Given the description of an element on the screen output the (x, y) to click on. 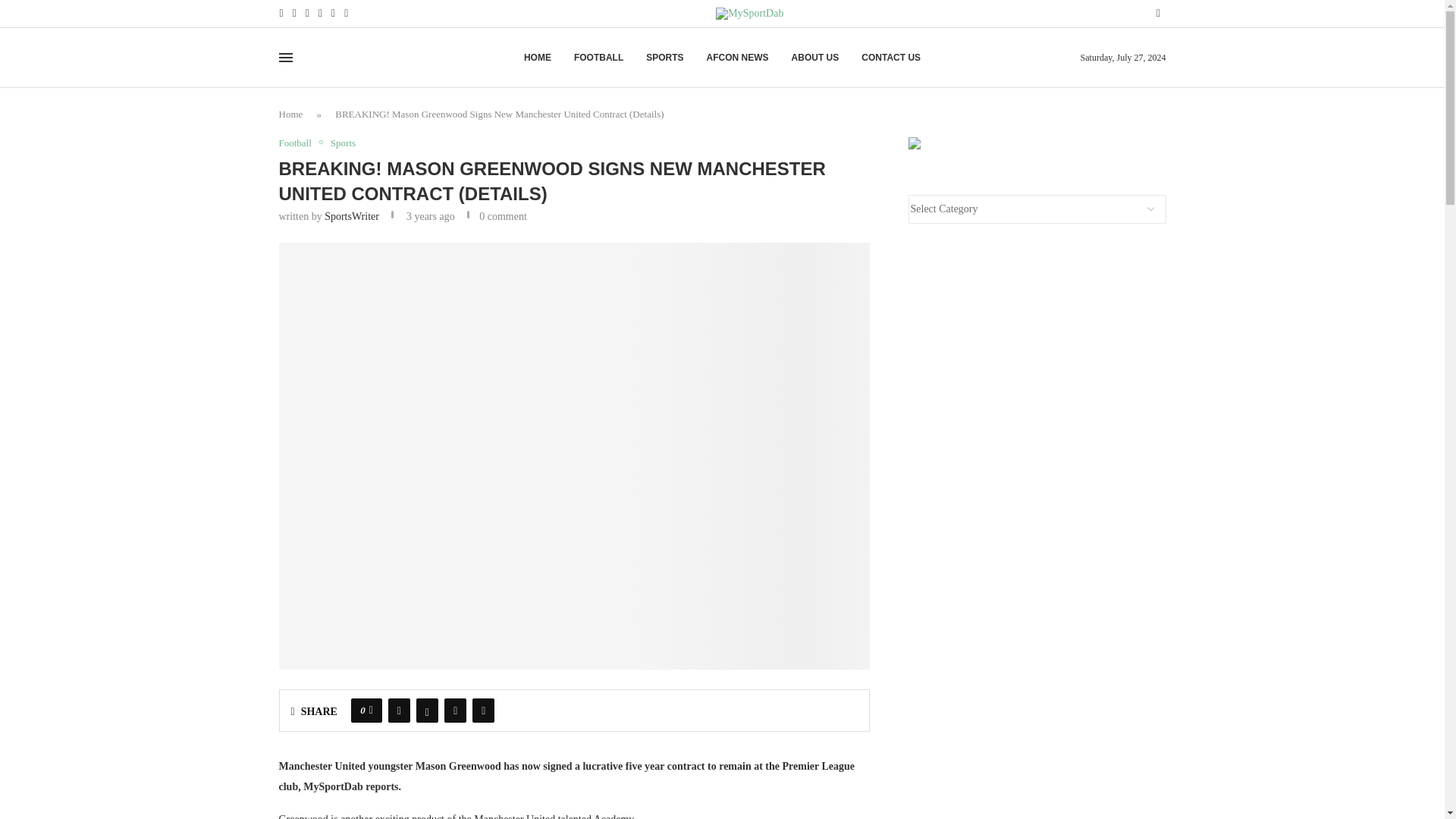
AFCON NEWS (737, 57)
CONTACT US (890, 57)
FOOTBALL (598, 57)
ABOUT US (816, 57)
